Given the description of an element on the screen output the (x, y) to click on. 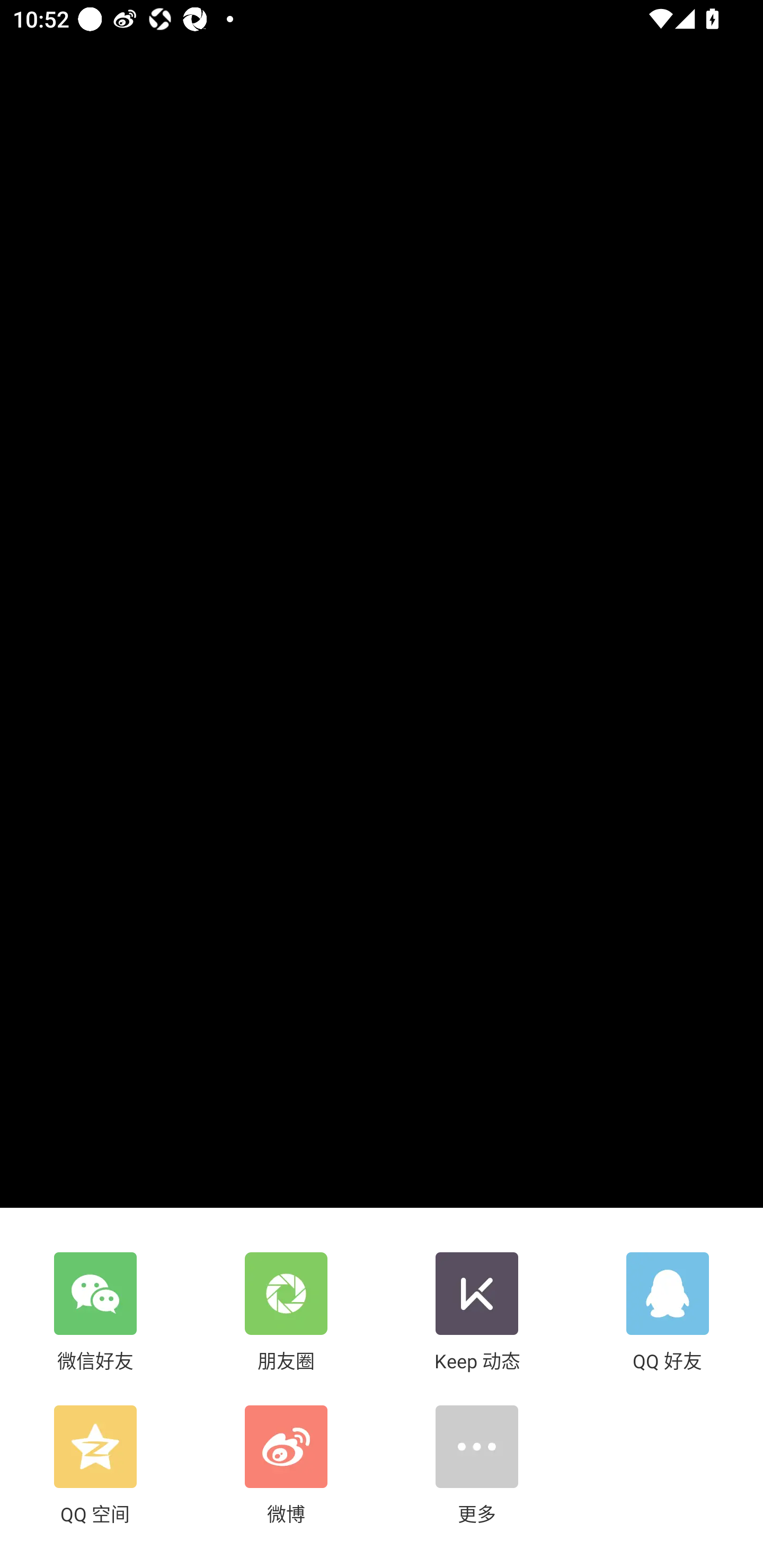
微信好友 (95, 1312)
朋友圈 (285, 1312)
Keep 动态 (476, 1312)
QQ 好友 (667, 1312)
QQ 空间 (95, 1465)
微博 (285, 1465)
更多 (476, 1465)
